Given the description of an element on the screen output the (x, y) to click on. 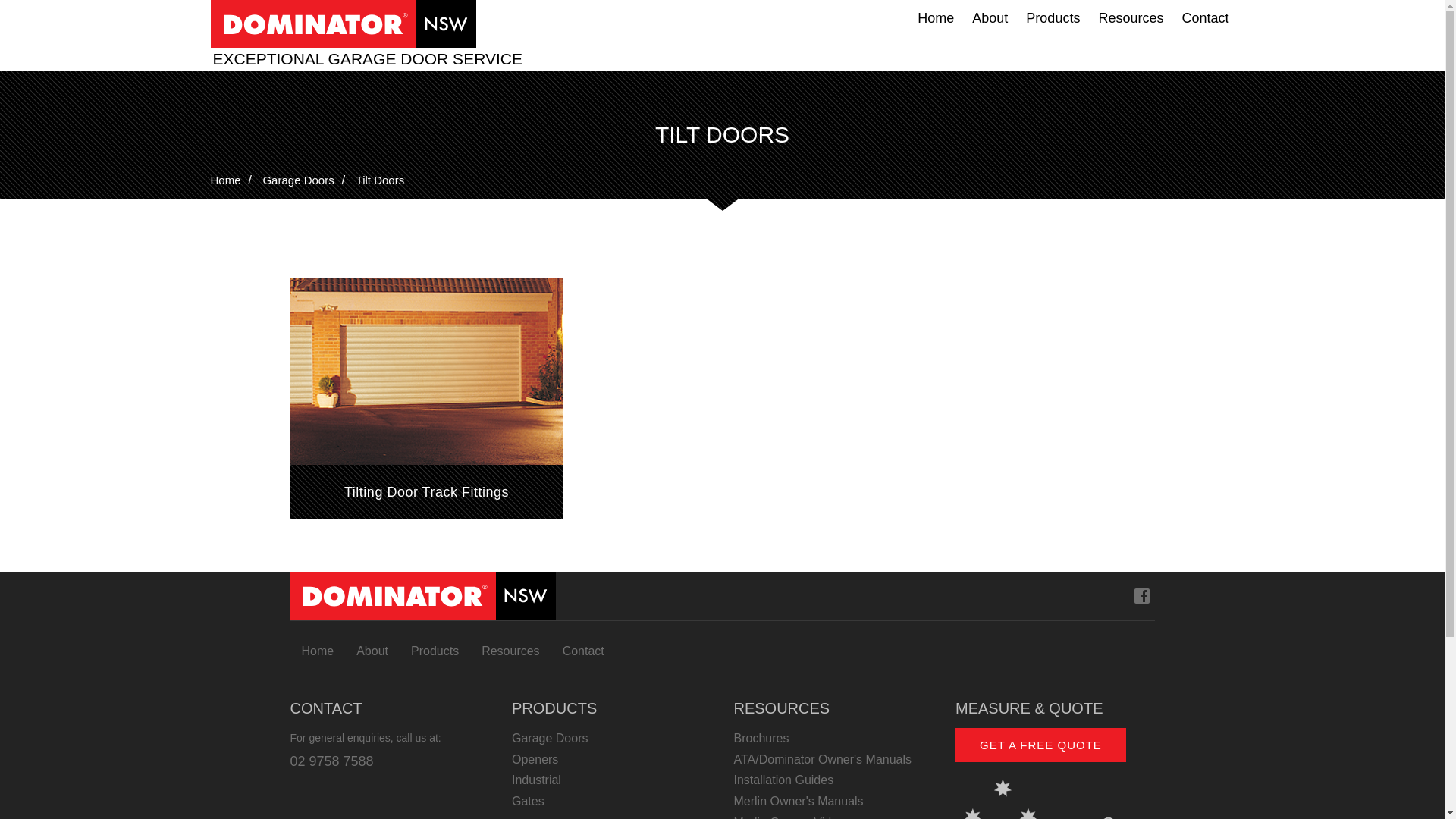
Garage Doors Element type: text (611, 738)
About Element type: text (372, 651)
Resources Element type: text (510, 651)
Home Element type: text (317, 651)
Home Element type: text (935, 18)
02 9758 7588 Element type: text (331, 760)
Installation Guides Element type: text (833, 779)
Tilting Door Track Fittings Element type: text (425, 398)
Tilt Doors Element type: text (380, 179)
Resources Element type: text (1130, 18)
Products Element type: text (434, 651)
About Element type: text (989, 18)
Openers Element type: text (611, 759)
GET A FREE QUOTE Element type: text (1040, 745)
Merlin Owner's Manuals Element type: text (833, 801)
Brochures Element type: text (833, 738)
Contact Element type: text (1204, 18)
Products Element type: text (1052, 18)
EXCEPTIONAL GARAGE DOOR SERVICE Element type: text (369, 58)
ATA/Dominator Owner's Manuals Element type: text (833, 759)
Industrial Element type: text (611, 779)
Gates Element type: text (611, 801)
Contact Element type: text (583, 651)
Home Element type: text (225, 179)
Garage Doors Element type: text (297, 179)
